Given the description of an element on the screen output the (x, y) to click on. 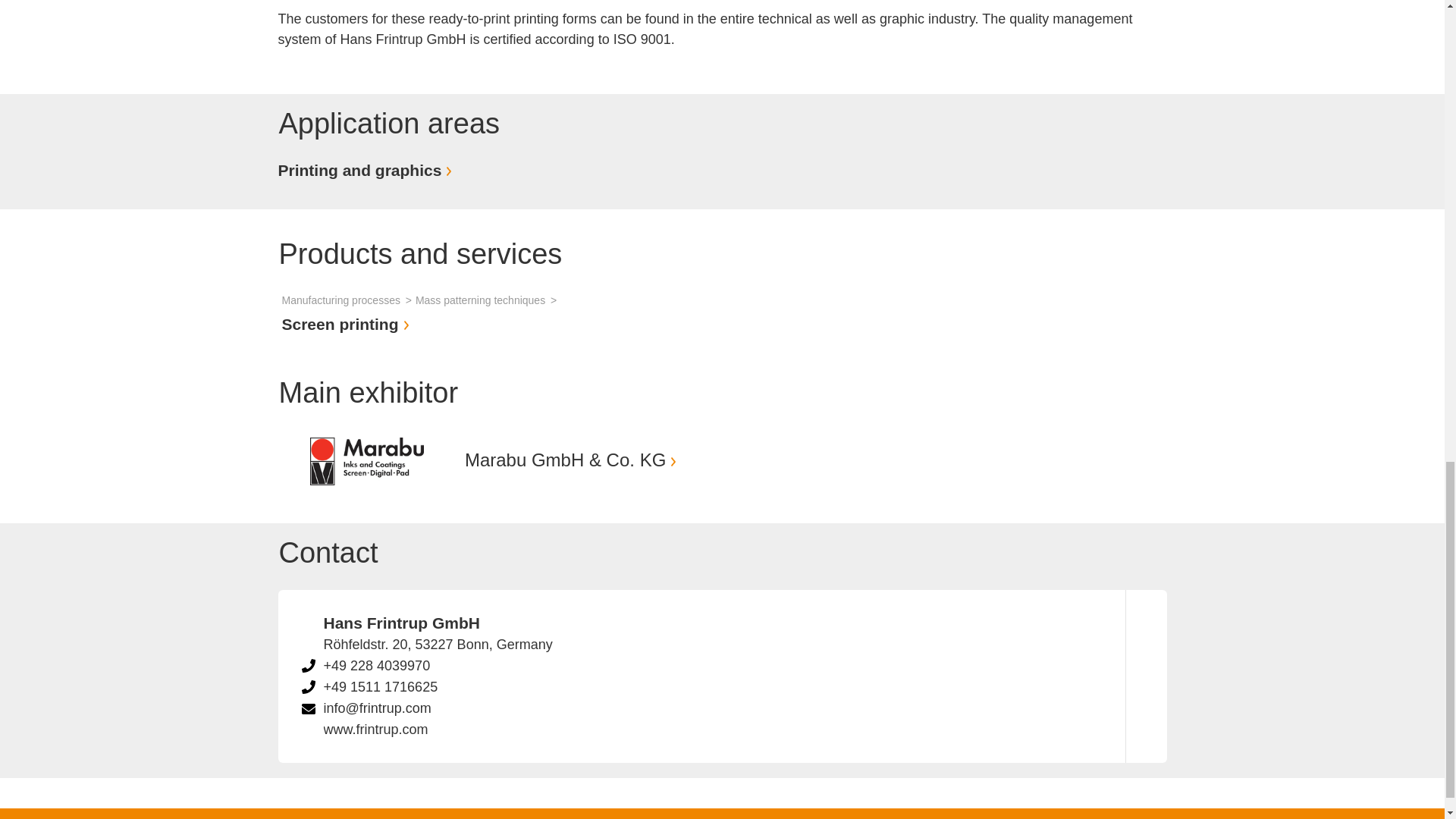
Exhibitor for Application area: Printing and graphics (367, 170)
Mass patterning techniques (487, 300)
Manufacturing processes (348, 300)
www.frintrup.com (375, 729)
Printing and graphics (367, 170)
Screen printing (347, 323)
